Given the description of an element on the screen output the (x, y) to click on. 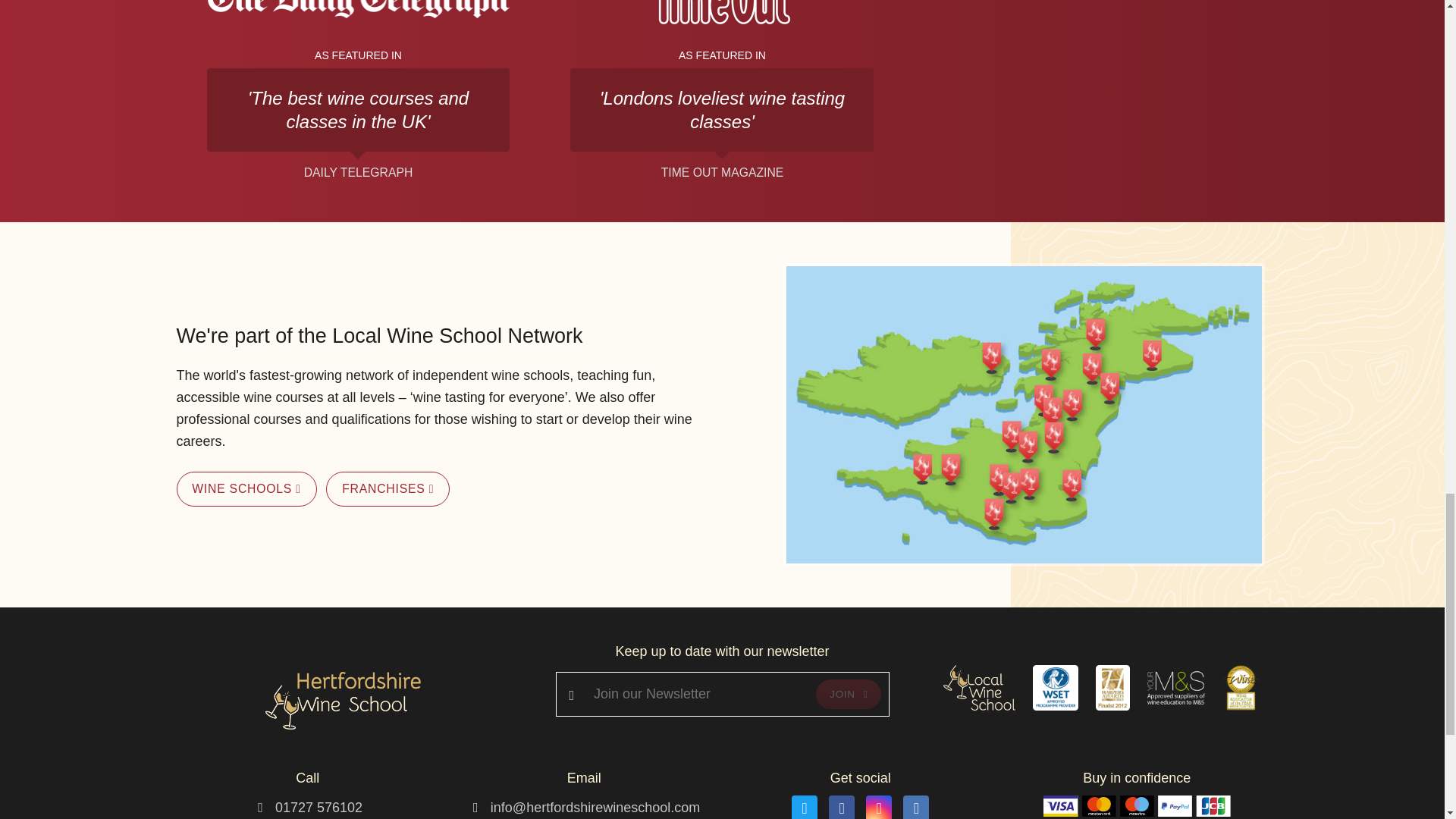
Visit our Facebook (841, 807)
Visit our LinkedIn (915, 807)
Send us an email (595, 807)
Visit our Twitter (804, 807)
Visit our Instagram (878, 807)
Call us (318, 807)
